Given the description of an element on the screen output the (x, y) to click on. 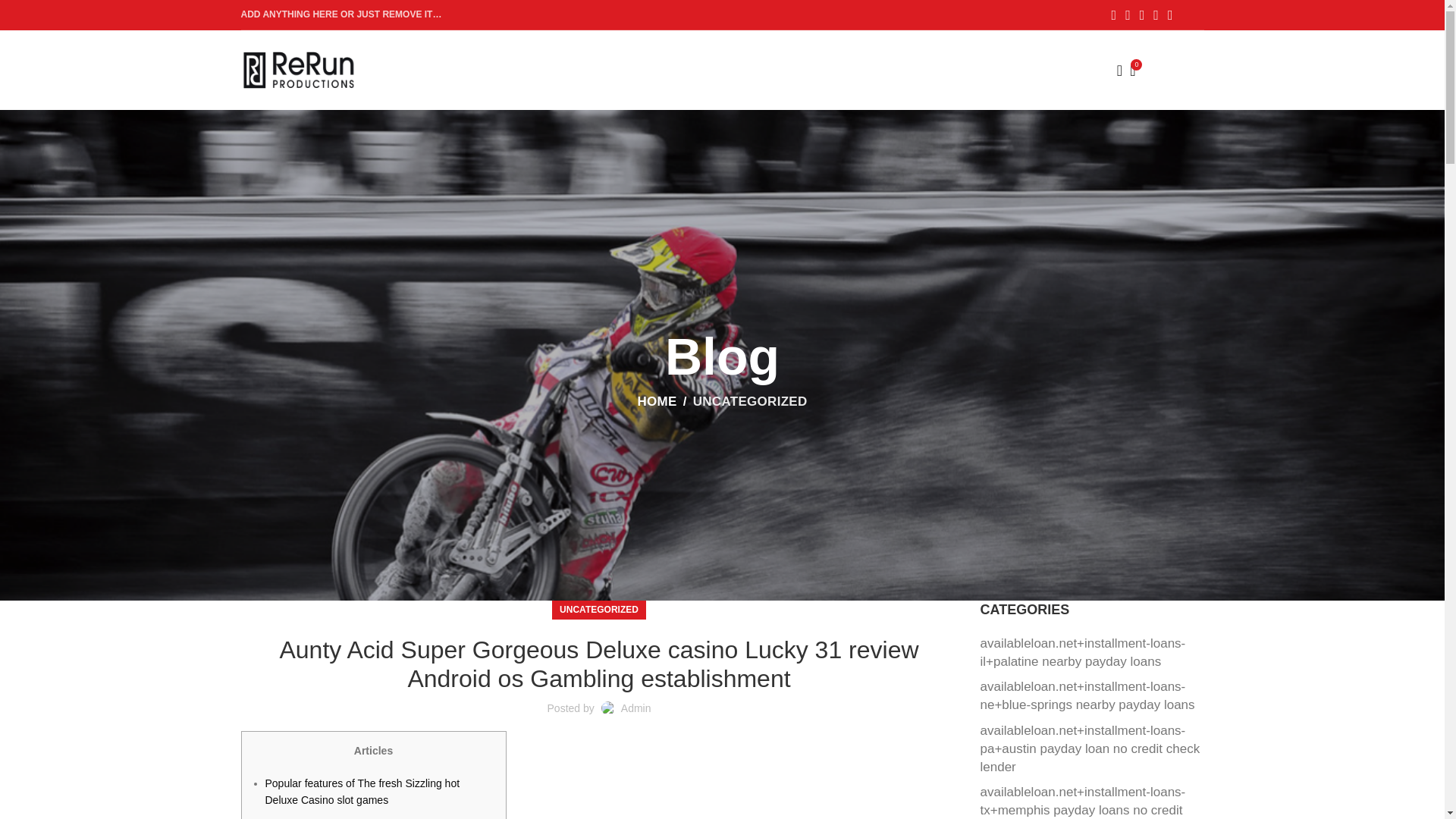
MAJOR EVENTS (473, 54)
FINALS (764, 54)
INDIVIDUALS (579, 54)
Shopping cart (1153, 69)
SUPERHEATS (680, 54)
